Given the description of an element on the screen output the (x, y) to click on. 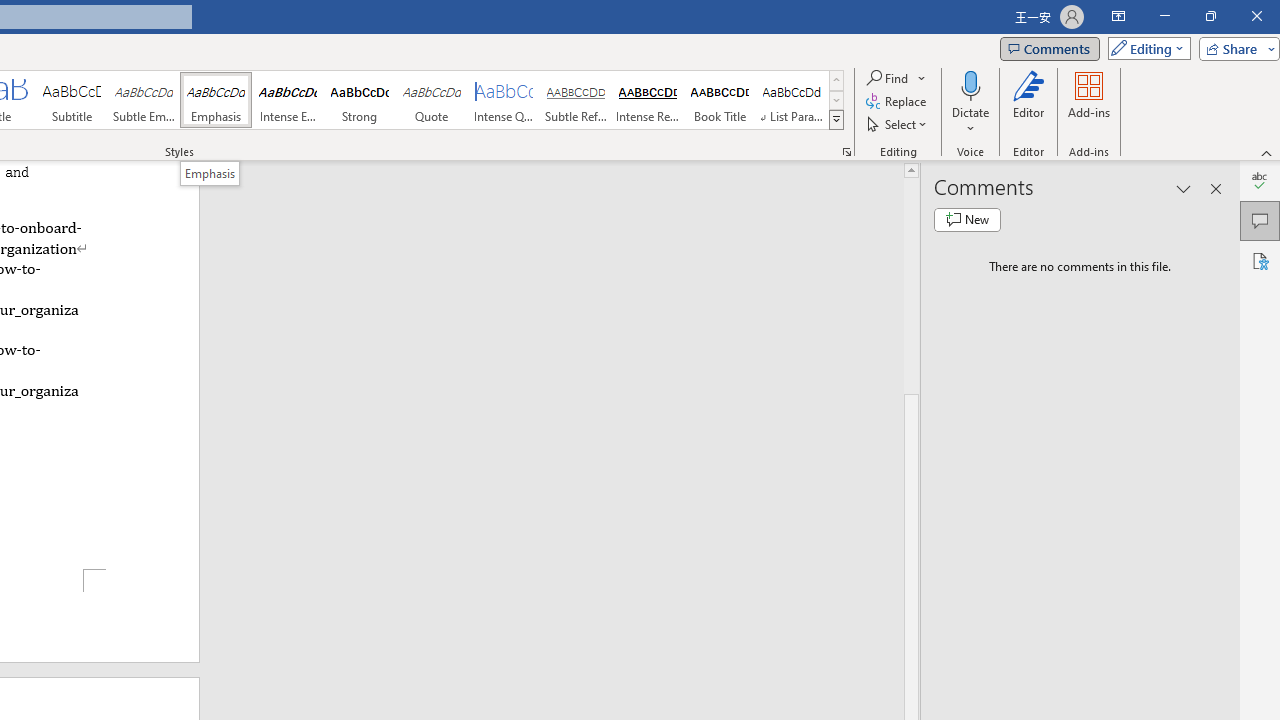
Subtitle (71, 100)
Intense Quote (504, 100)
New comment (967, 219)
Book Title (719, 100)
Subtle Emphasis (143, 100)
